Given the description of an element on the screen output the (x, y) to click on. 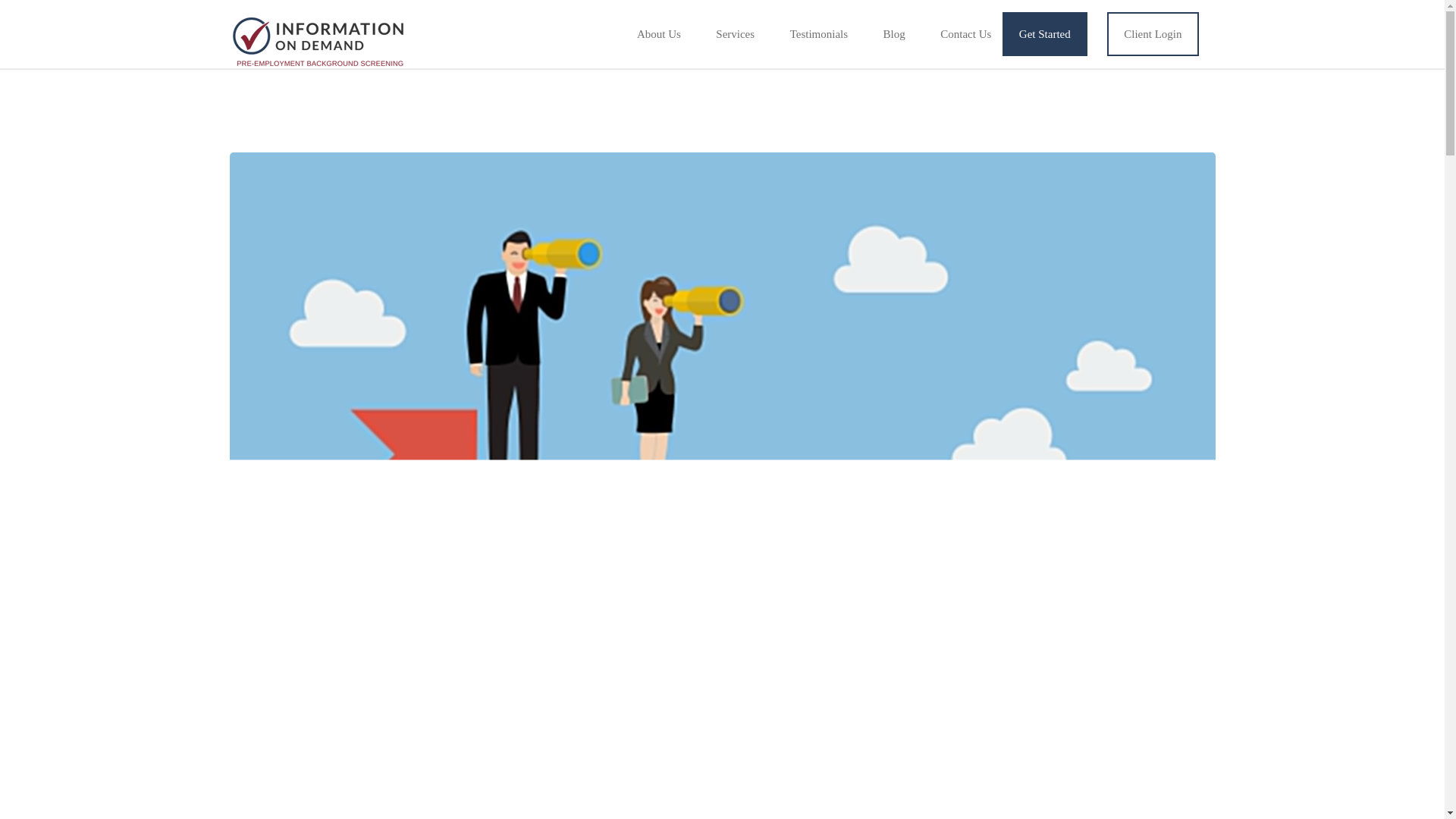
informationondemand (318, 41)
Contact Us (965, 33)
Client Login (1152, 34)
Testimonials (819, 33)
Get Started (1045, 34)
